Given the description of an element on the screen output the (x, y) to click on. 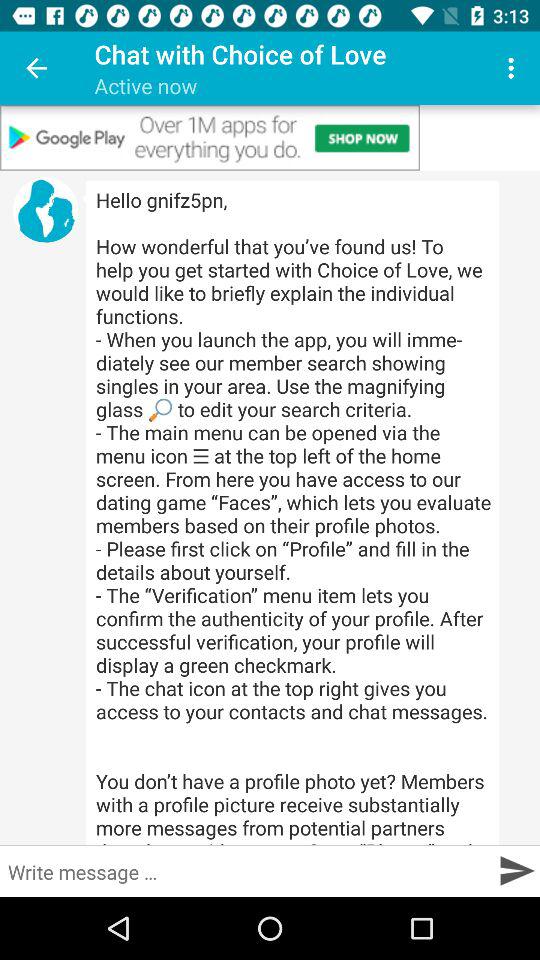
go to message send box (516, 870)
